Given the description of an element on the screen output the (x, y) to click on. 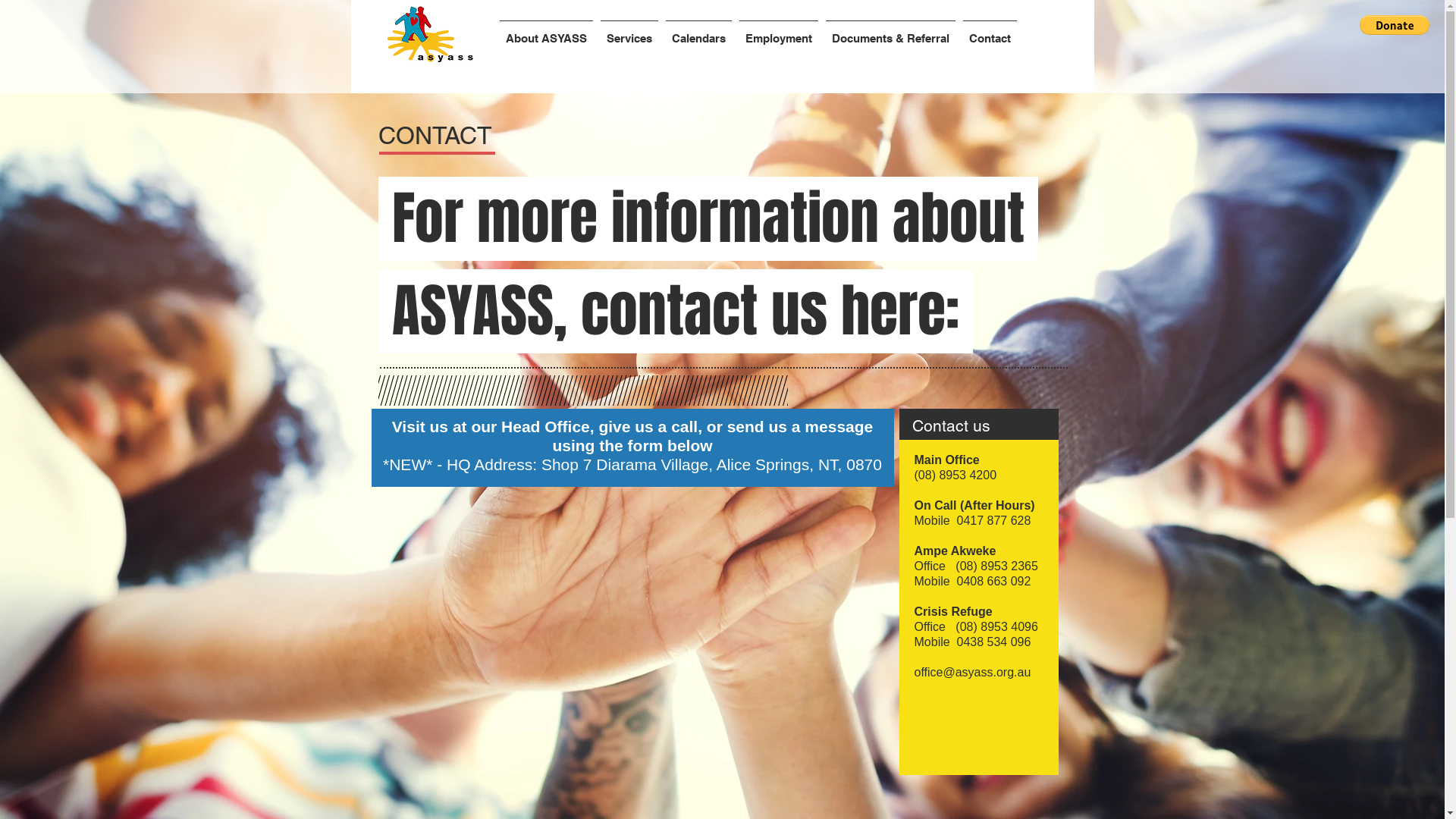
Documents & Referral Element type: text (890, 31)
Calendars Element type: text (697, 31)
office@asyass.org.au Element type: text (972, 671)
Employment Element type: text (778, 31)
Google Maps Element type: hover (632, 652)
About ASYASS Element type: text (545, 31)
